Given the description of an element on the screen output the (x, y) to click on. 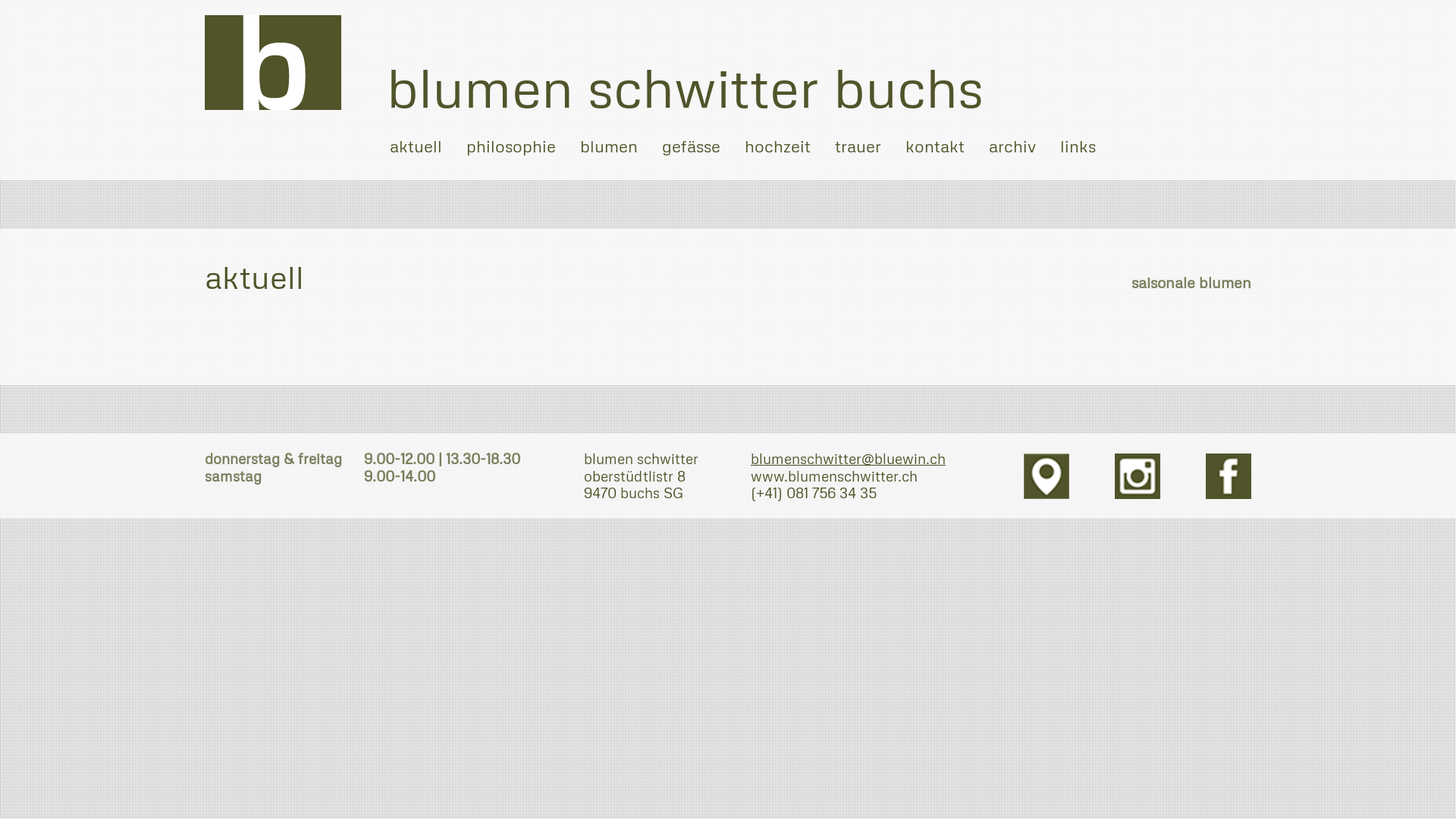
blumen Element type: text (608, 144)
kontakt Element type: text (934, 144)
aktuell Element type: text (415, 144)
hochzeit Element type: text (777, 144)
blumenschwitter@bluewin.ch Element type: text (847, 458)
philosophie Element type: text (510, 144)
links Element type: text (1077, 144)
archiv Element type: text (1012, 144)
trauer Element type: text (857, 144)
